Given the description of an element on the screen output the (x, y) to click on. 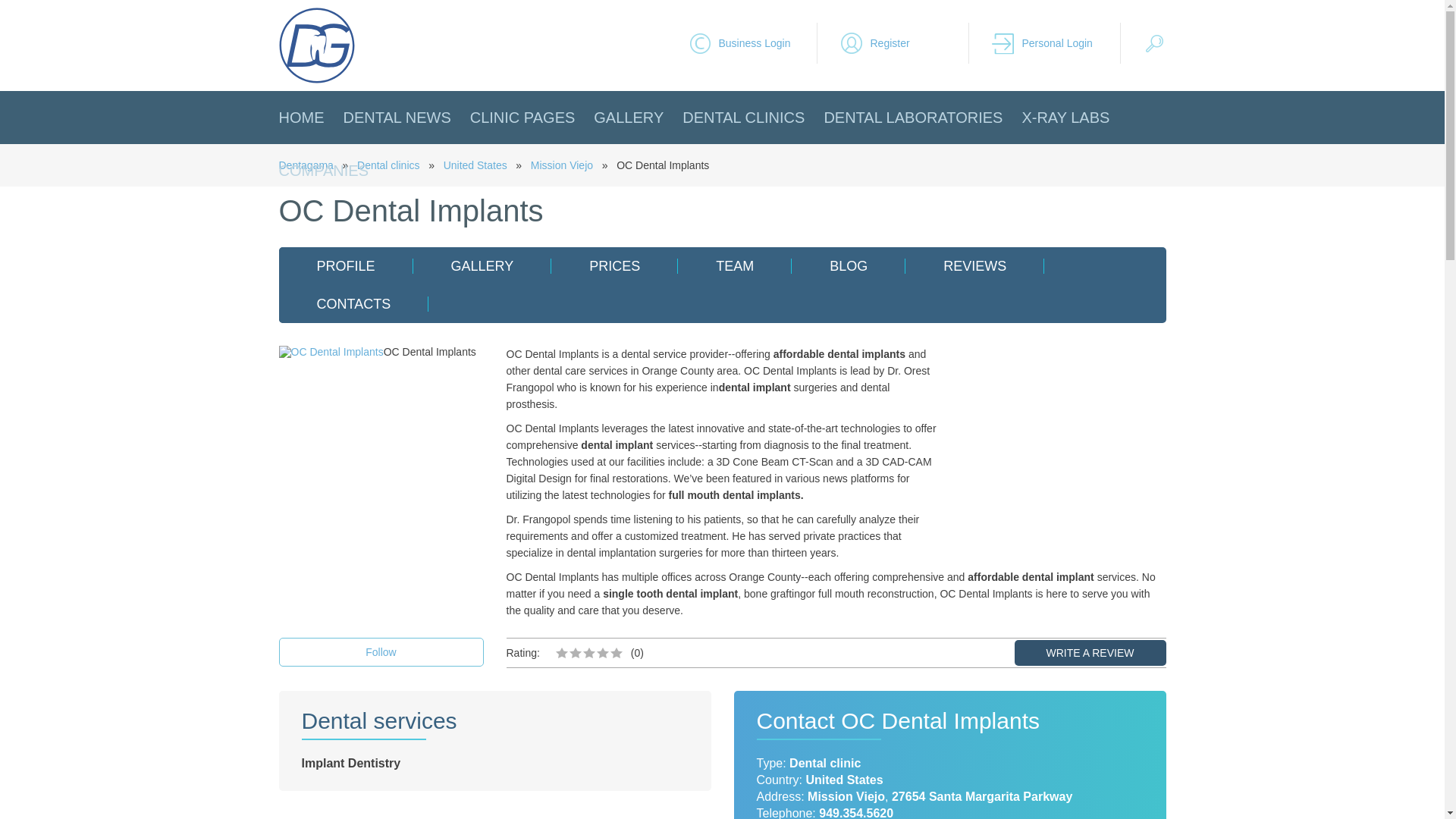
DENTAL LABORATORIES (913, 117)
DentaGama (317, 45)
TEAM (735, 266)
Business Login (752, 42)
United States (475, 164)
OC Dental Implants (331, 351)
DENTAL NEWS (395, 117)
REVIEWS (974, 266)
Dental clinic (824, 762)
Register (904, 42)
Register (904, 42)
PROFILE (346, 266)
X-RAY LABS (1065, 117)
GALLERY (628, 117)
GALLERY (482, 266)
